Given the description of an element on the screen output the (x, y) to click on. 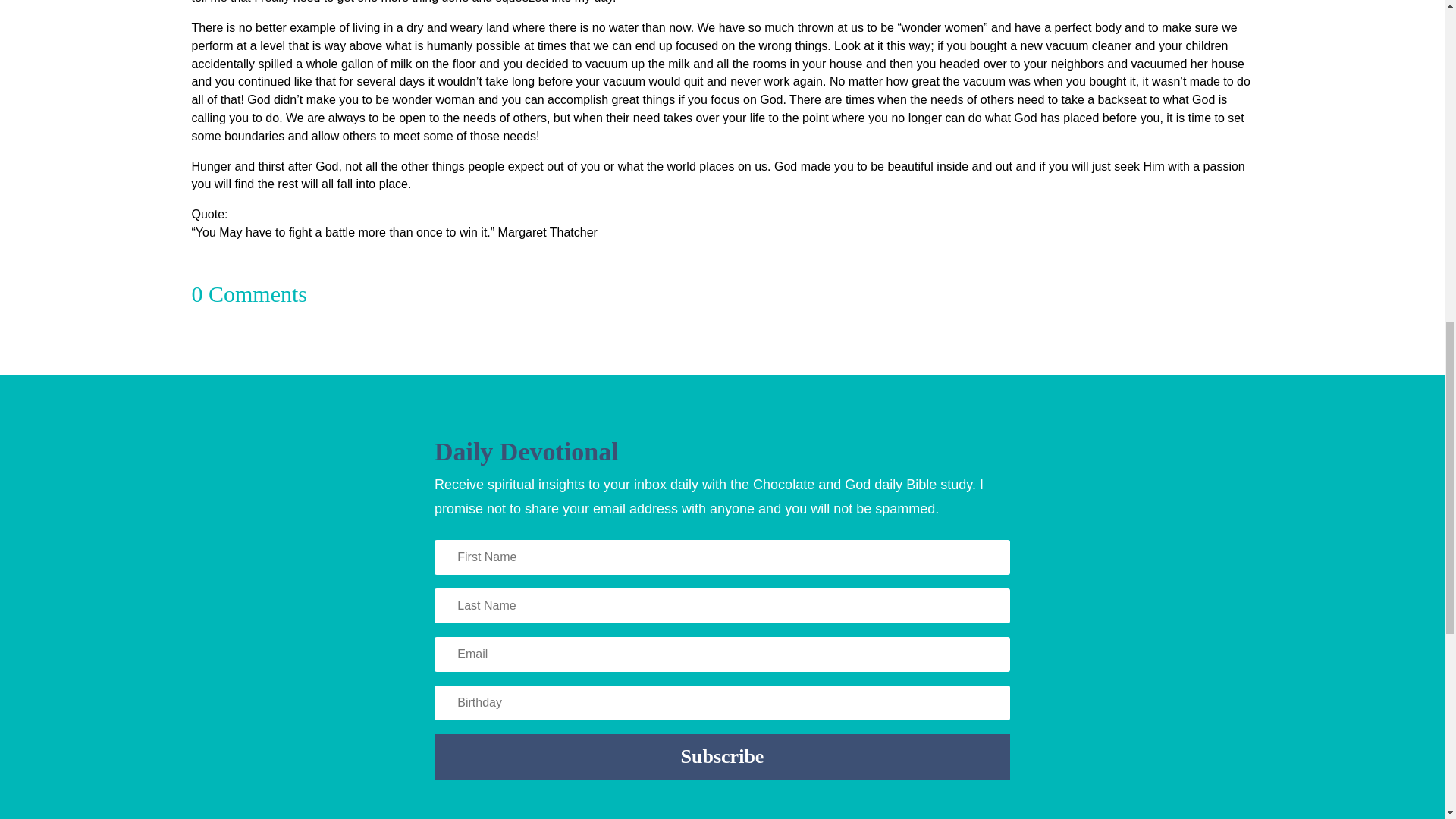
Subscribe (721, 756)
